Given the description of an element on the screen output the (x, y) to click on. 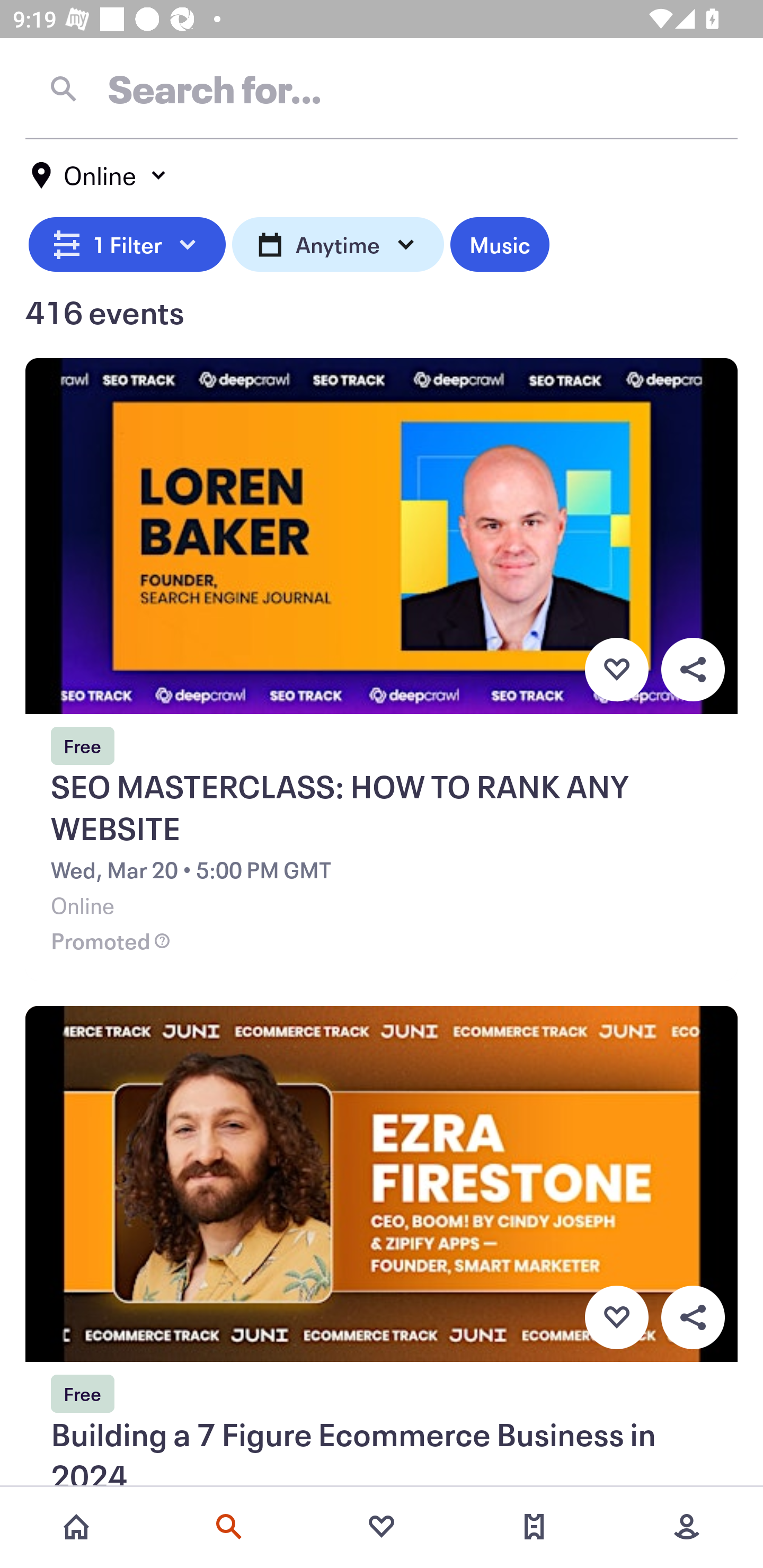
Search for… (381, 88)
Online (99, 175)
1 Filter (126, 241)
Anytime (337, 241)
Music (499, 241)
Favorite button (616, 669)
Overflow menu button (692, 669)
Promoted event help (161, 940)
Favorite button (616, 1317)
Overflow menu button (692, 1317)
Home (76, 1526)
Search events (228, 1526)
Favorites (381, 1526)
Tickets (533, 1526)
More (686, 1526)
